Given the description of an element on the screen output the (x, y) to click on. 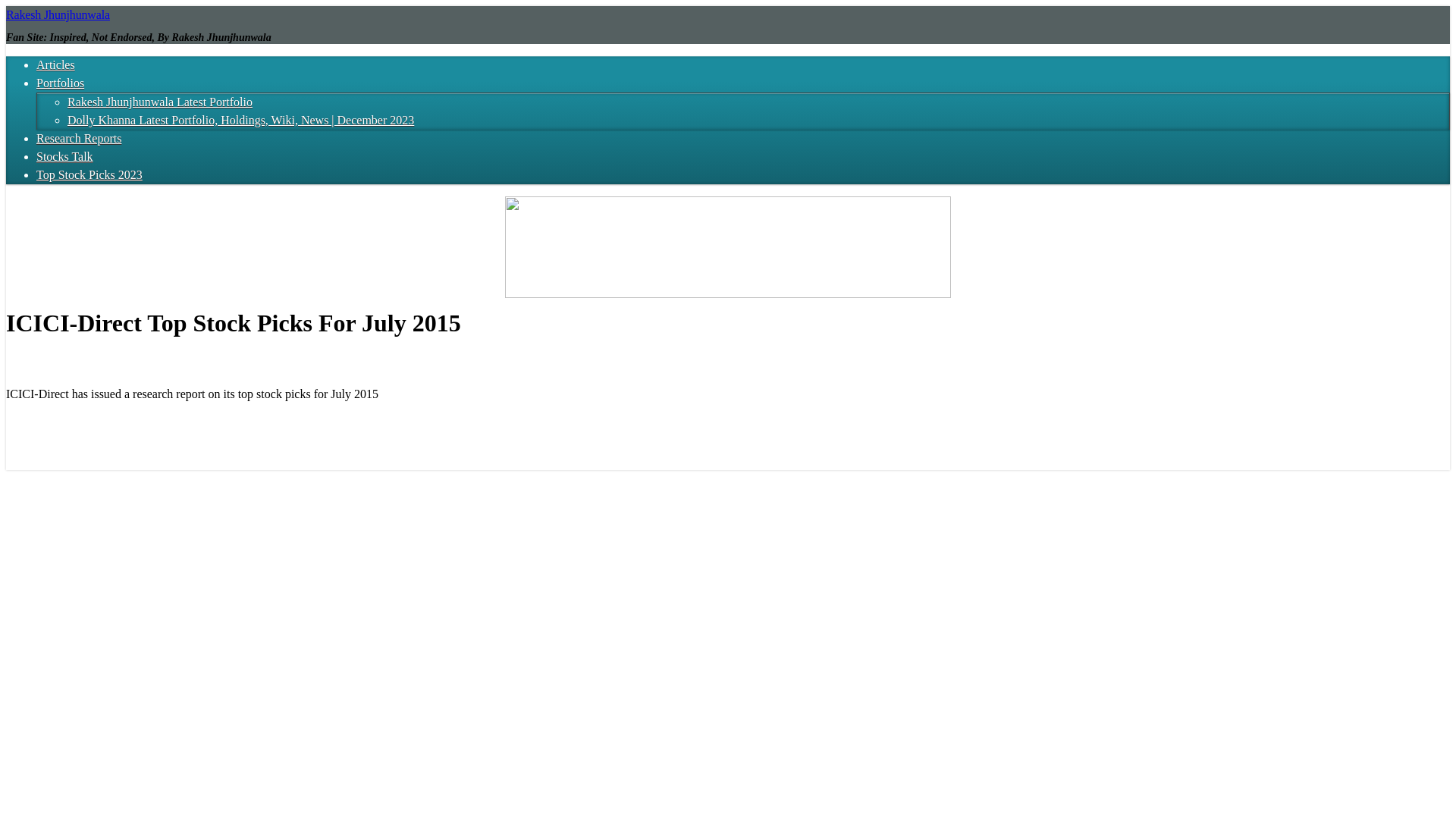
Rakesh Jhunjhunwala Latest Portfolio (158, 101)
Research Reports (78, 137)
Portfolios (60, 82)
Articles (55, 64)
Stocks Talk (64, 155)
Top Stock Picks 2023 (89, 174)
Rakesh Jhunjhunwala (57, 14)
